Given the description of an element on the screen output the (x, y) to click on. 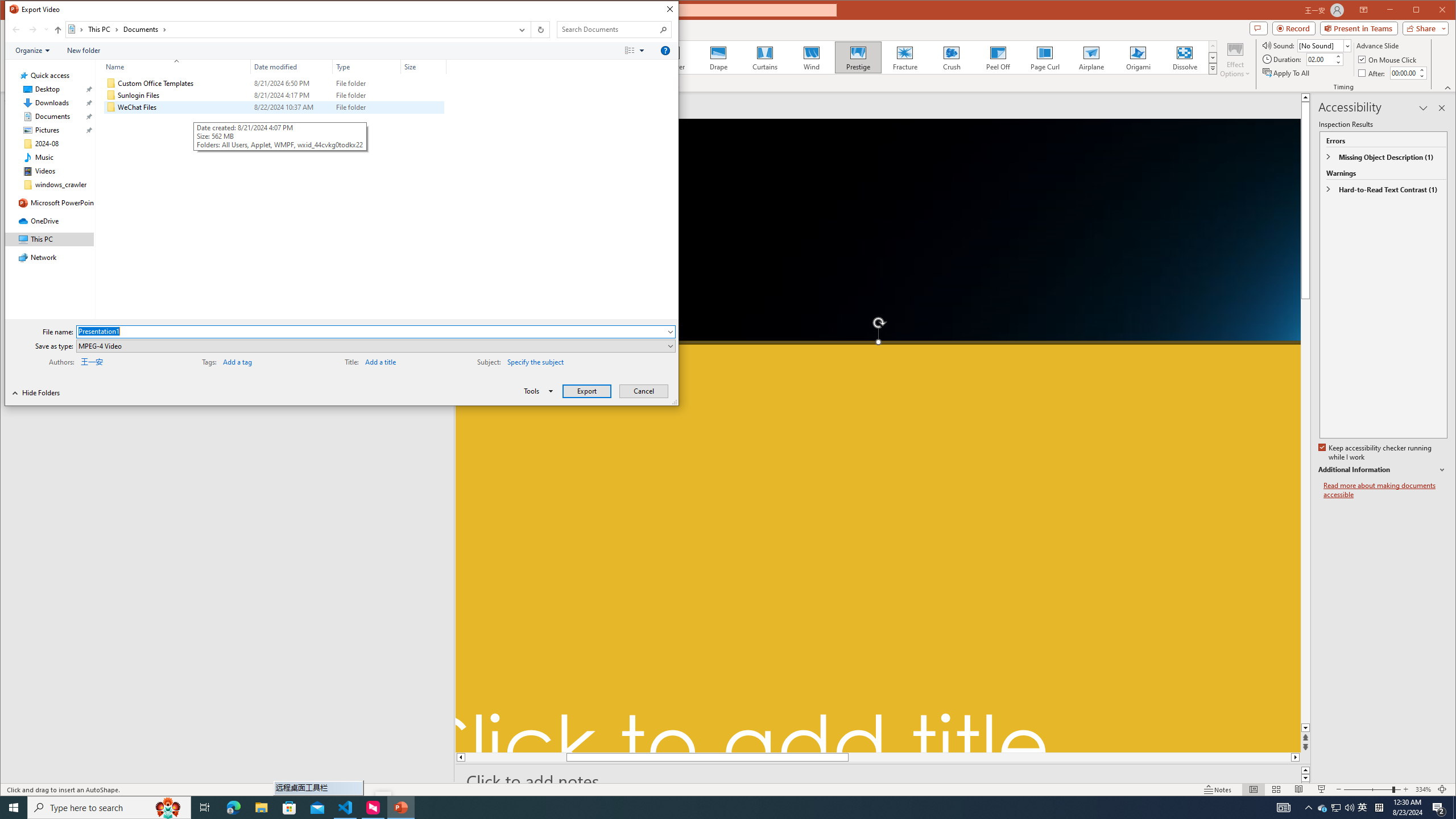
After (1403, 72)
Authors (116, 361)
Sound (1324, 45)
Tags (258, 361)
All locations (75, 29)
Views (636, 50)
